Given the description of an element on the screen output the (x, y) to click on. 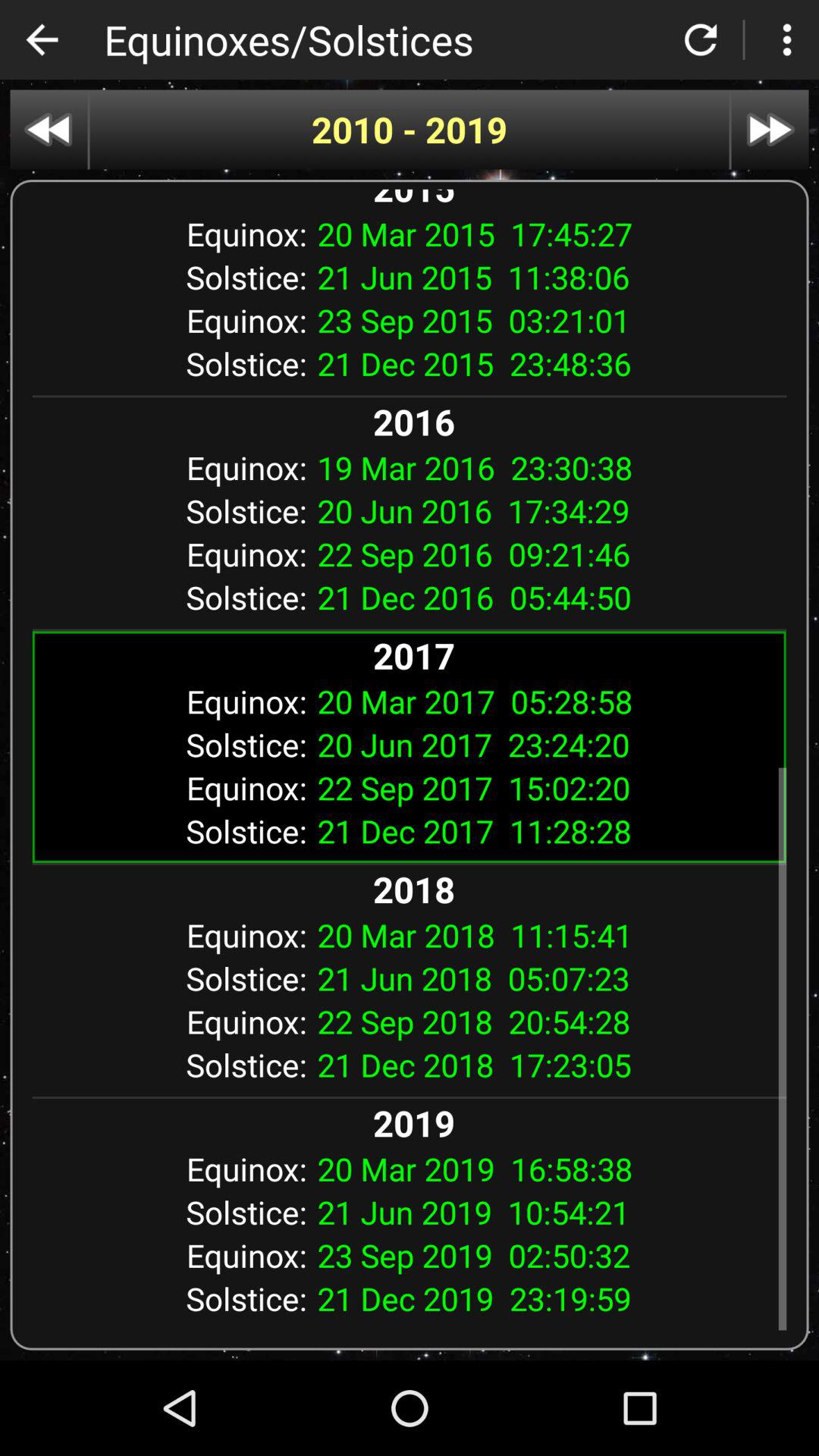
previous decade (48, 129)
